Given the description of an element on the screen output the (x, y) to click on. 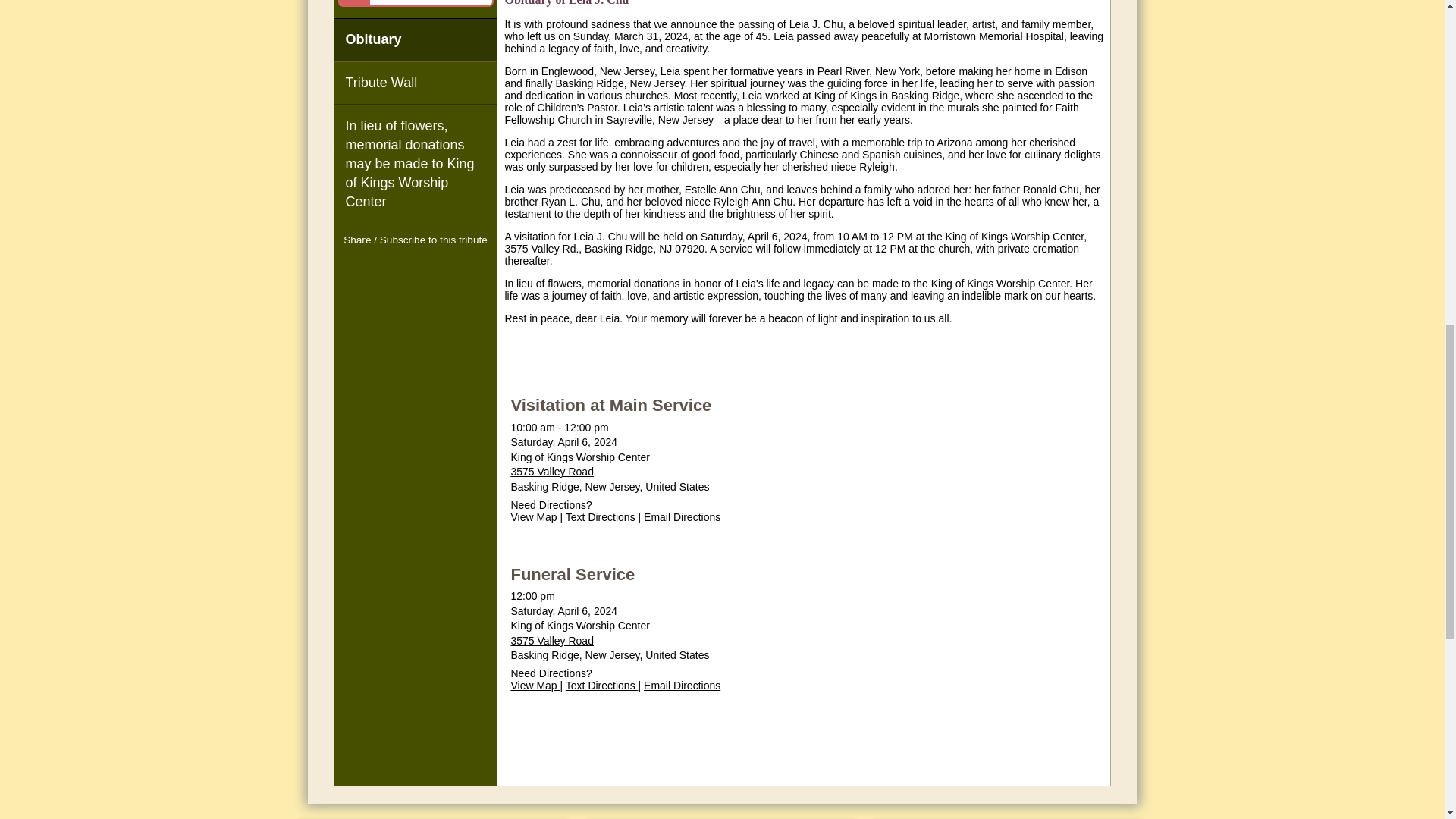
Facebook (387, 269)
View Map (535, 517)
Send Flowers (415, 3)
Email Directions (681, 517)
Text Directions (602, 517)
View Map (535, 685)
Obituary (414, 39)
Tribute Wall (414, 83)
Receive Notifications (442, 269)
Twitter (415, 269)
